Given the description of an element on the screen output the (x, y) to click on. 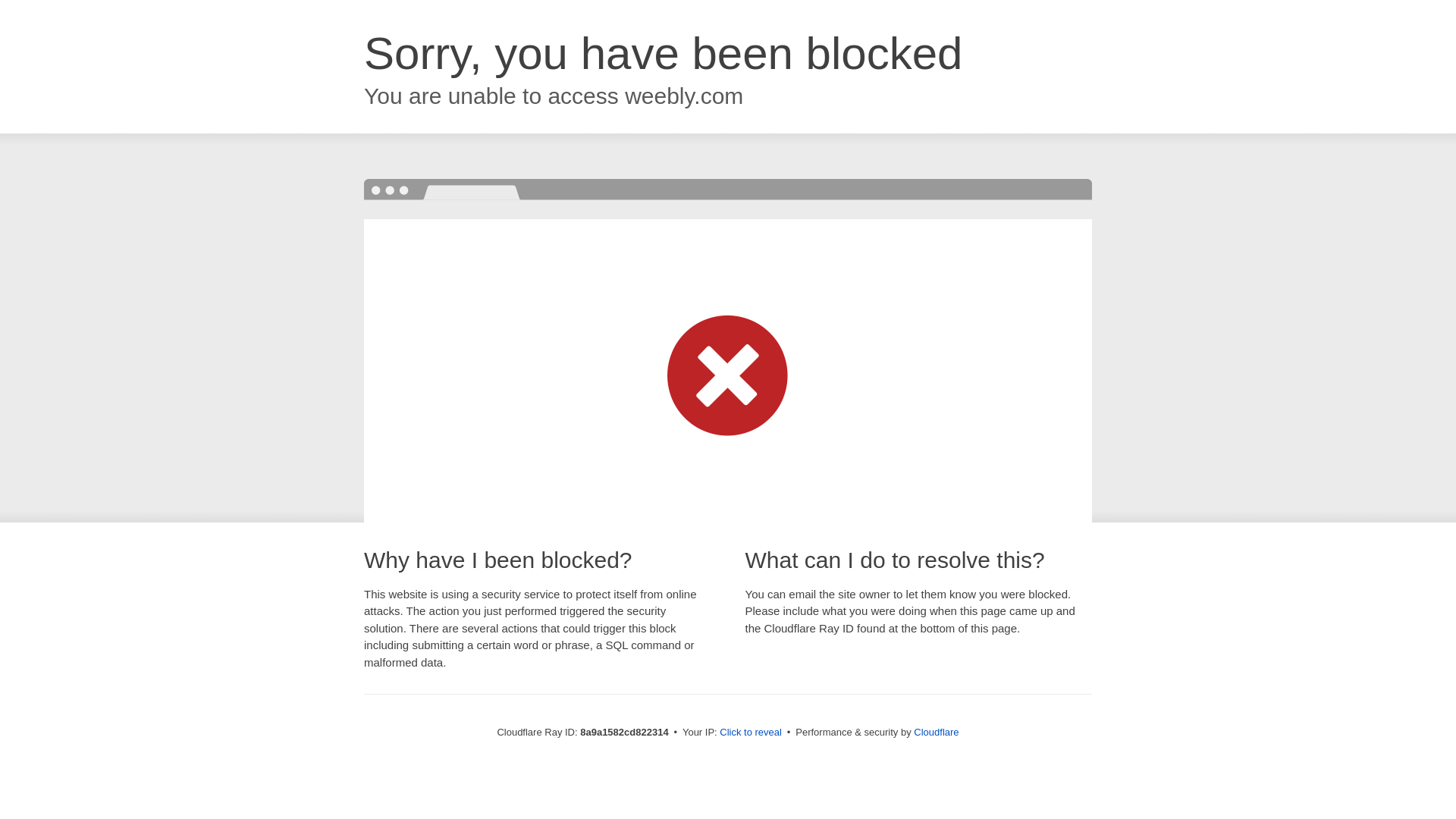
Click to reveal (750, 732)
Cloudflare (936, 731)
